Given the description of an element on the screen output the (x, y) to click on. 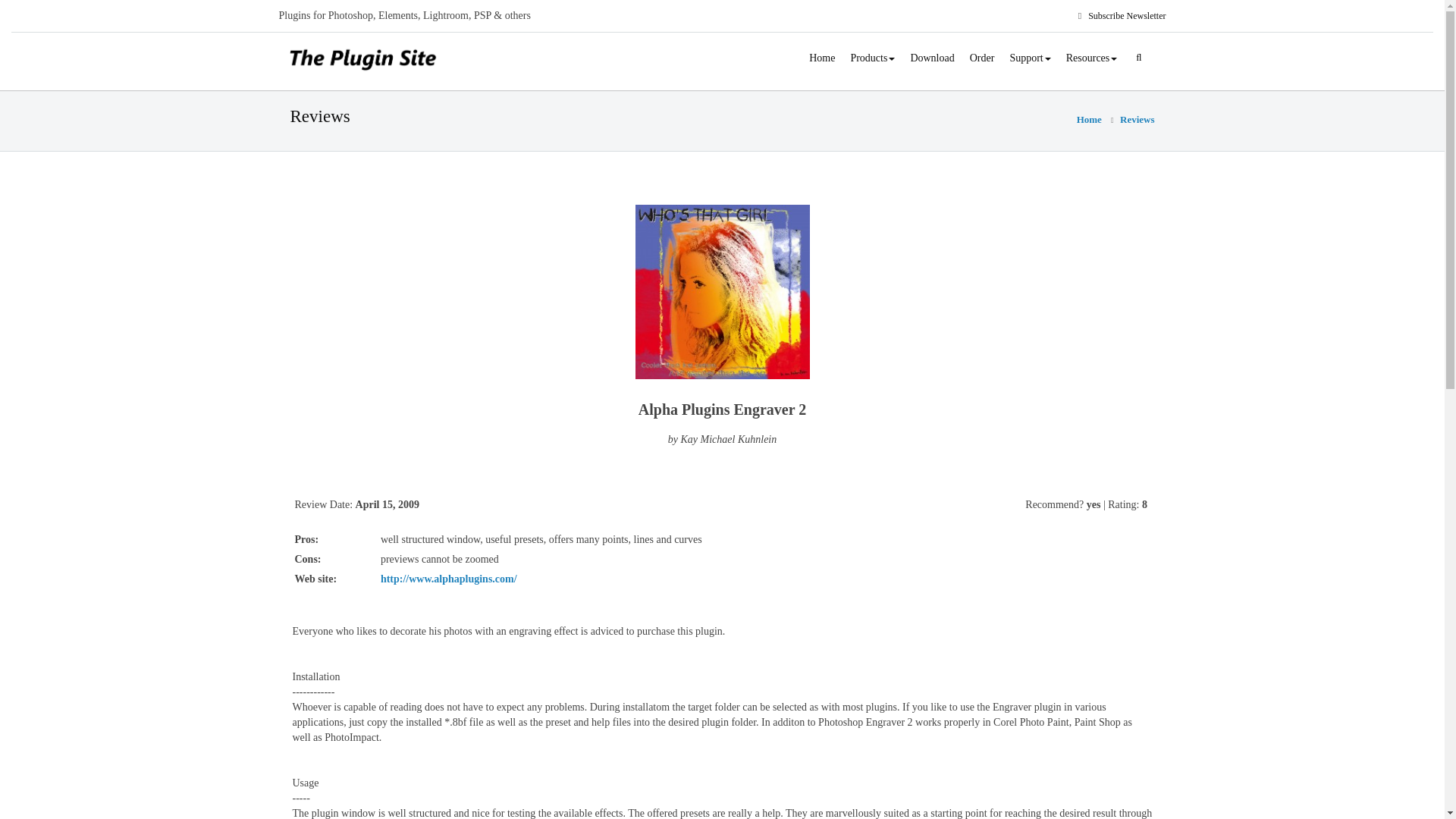
  Subscribe Newsletter (1124, 15)
Products (872, 58)
Download (931, 58)
Home (822, 58)
Order (982, 58)
Support (1029, 58)
